Given the description of an element on the screen output the (x, y) to click on. 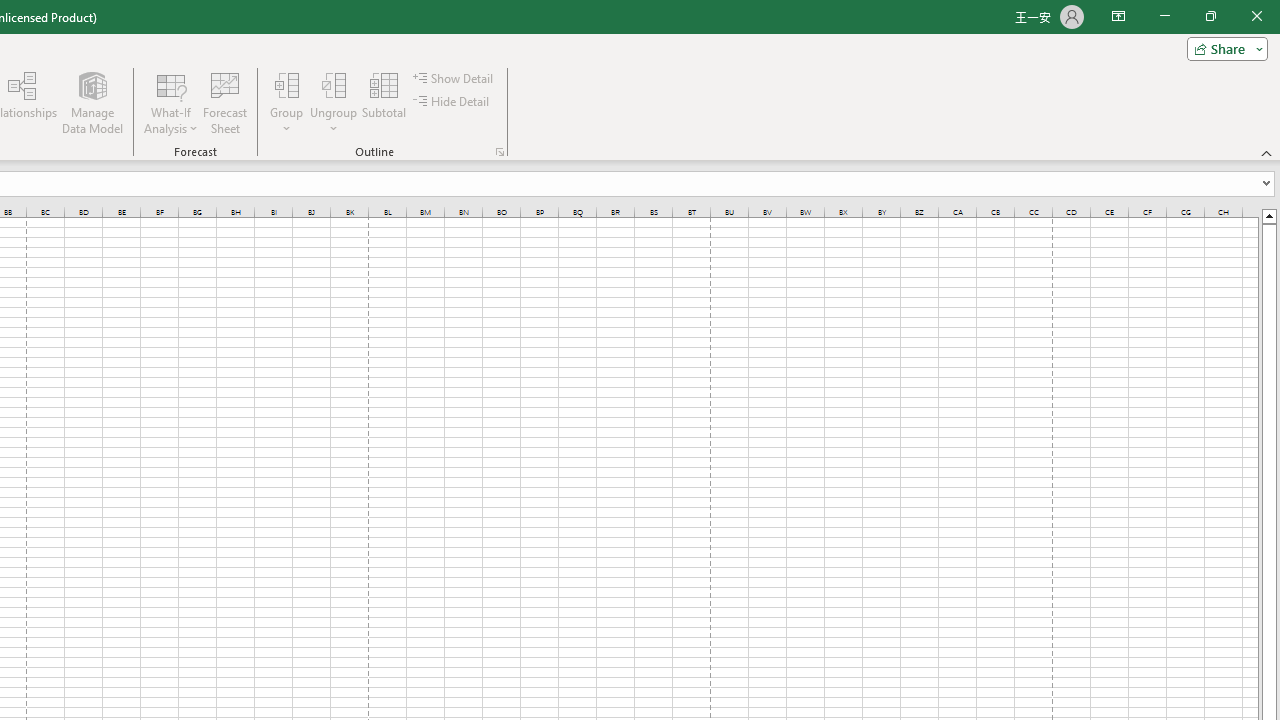
Subtotal (384, 102)
Manage Data Model (92, 102)
Show Detail (454, 78)
Restore Down (1210, 16)
Group and Outline Settings (499, 151)
Forecast Sheet (224, 102)
Hide Detail (452, 101)
What-If Analysis (171, 102)
